Given the description of an element on the screen output the (x, y) to click on. 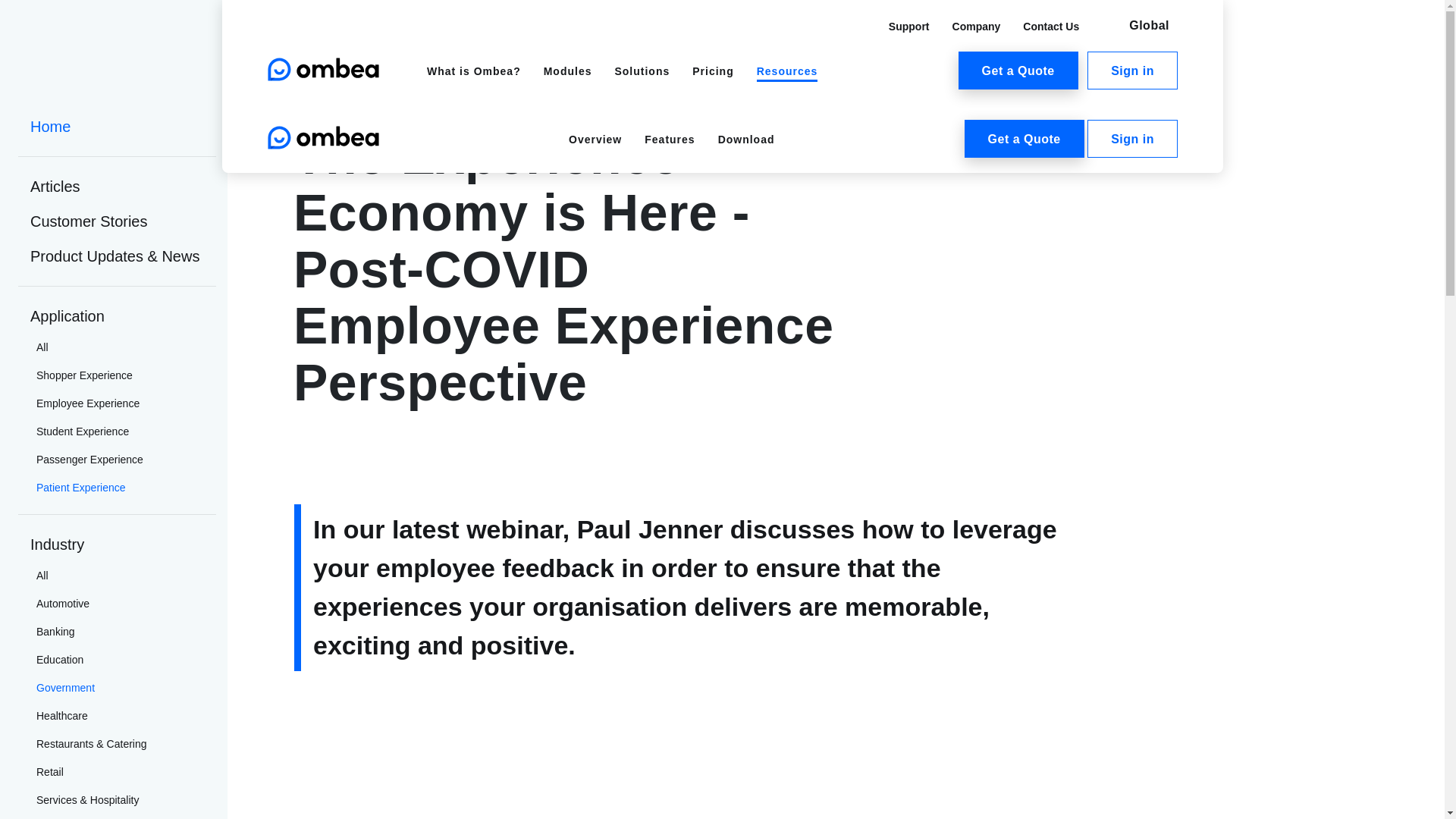
What is Ombea? (472, 71)
Download (745, 139)
Global (1133, 25)
Sign in (1132, 138)
Get a Quote (1017, 70)
Support (908, 26)
Get a Quote (1023, 138)
Solutions (641, 71)
Overview (595, 139)
Contact Us (1050, 26)
Sign in (1132, 70)
Company (976, 26)
Modules (567, 71)
Features (669, 139)
Pricing (713, 71)
